Given the description of an element on the screen output the (x, y) to click on. 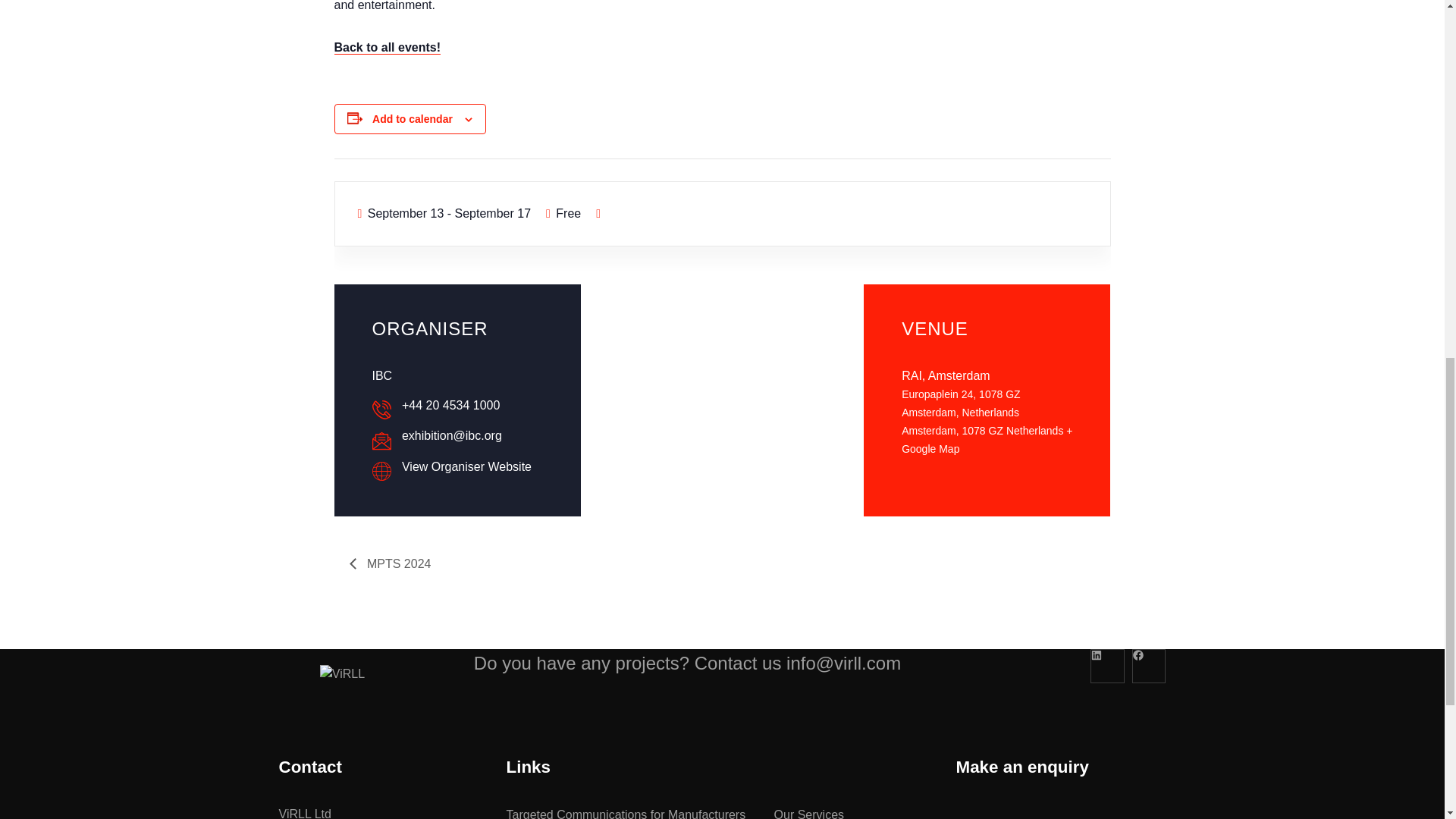
Click to view a Google Map (986, 440)
Back to all events! (387, 47)
Add to calendar (412, 119)
ViRLL (342, 674)
Google maps iframe displaying the address to RAI, Amsterdam (721, 397)
